Given the description of an element on the screen output the (x, y) to click on. 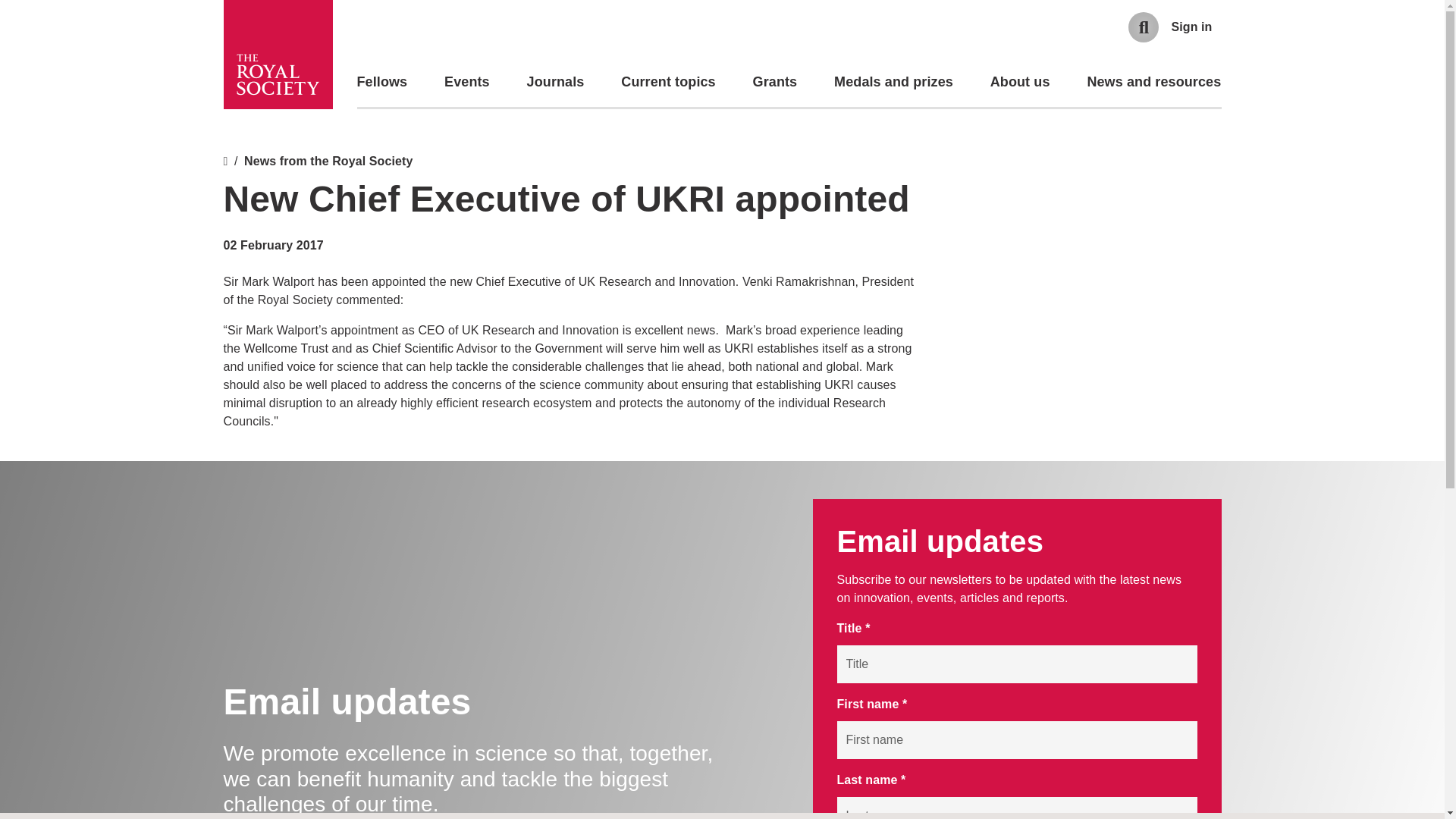
Journals (556, 81)
Fellows (381, 81)
Current topics (667, 81)
